Given the description of an element on the screen output the (x, y) to click on. 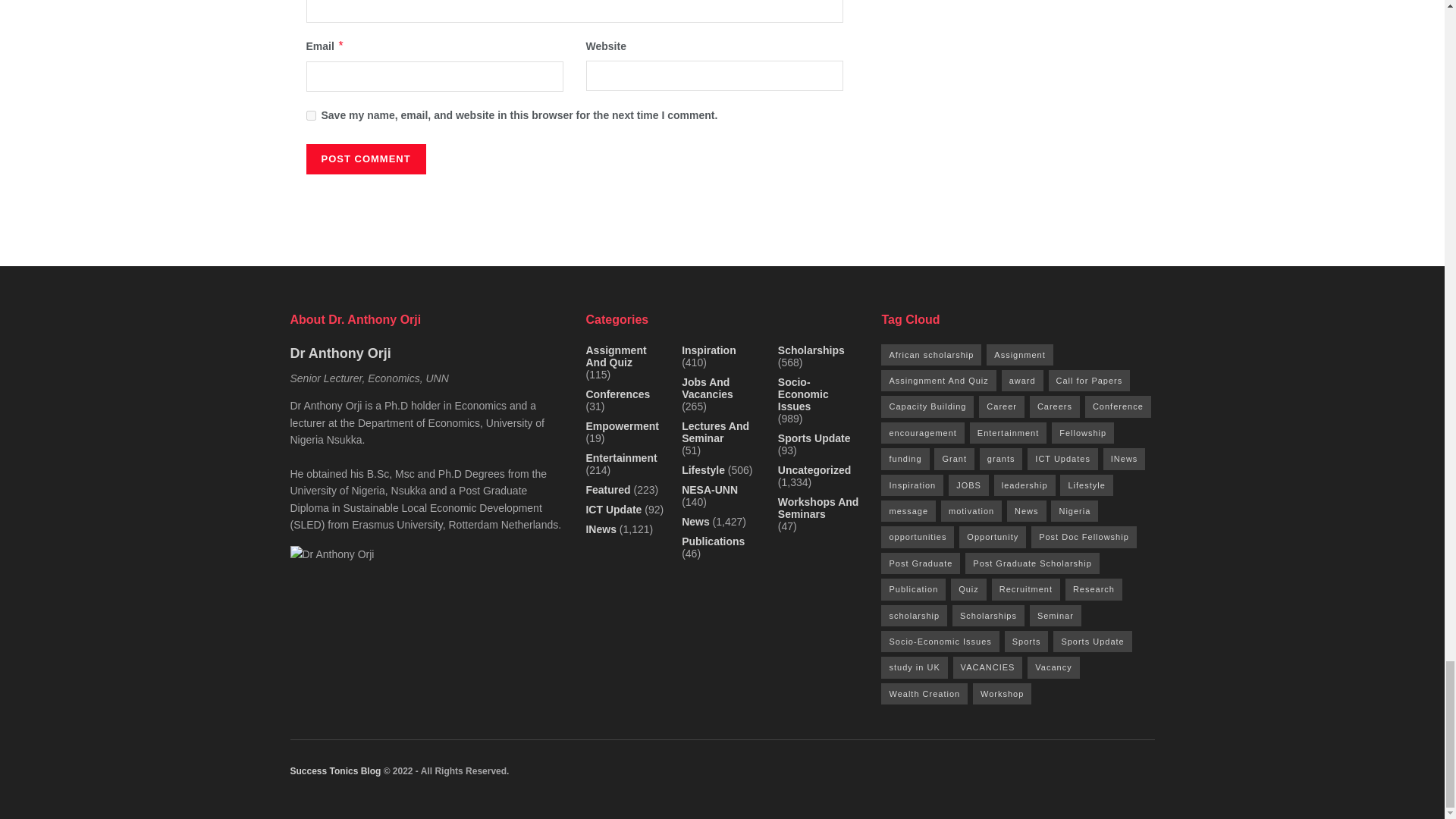
Post Comment (365, 159)
yes (310, 115)
